Given the description of an element on the screen output the (x, y) to click on. 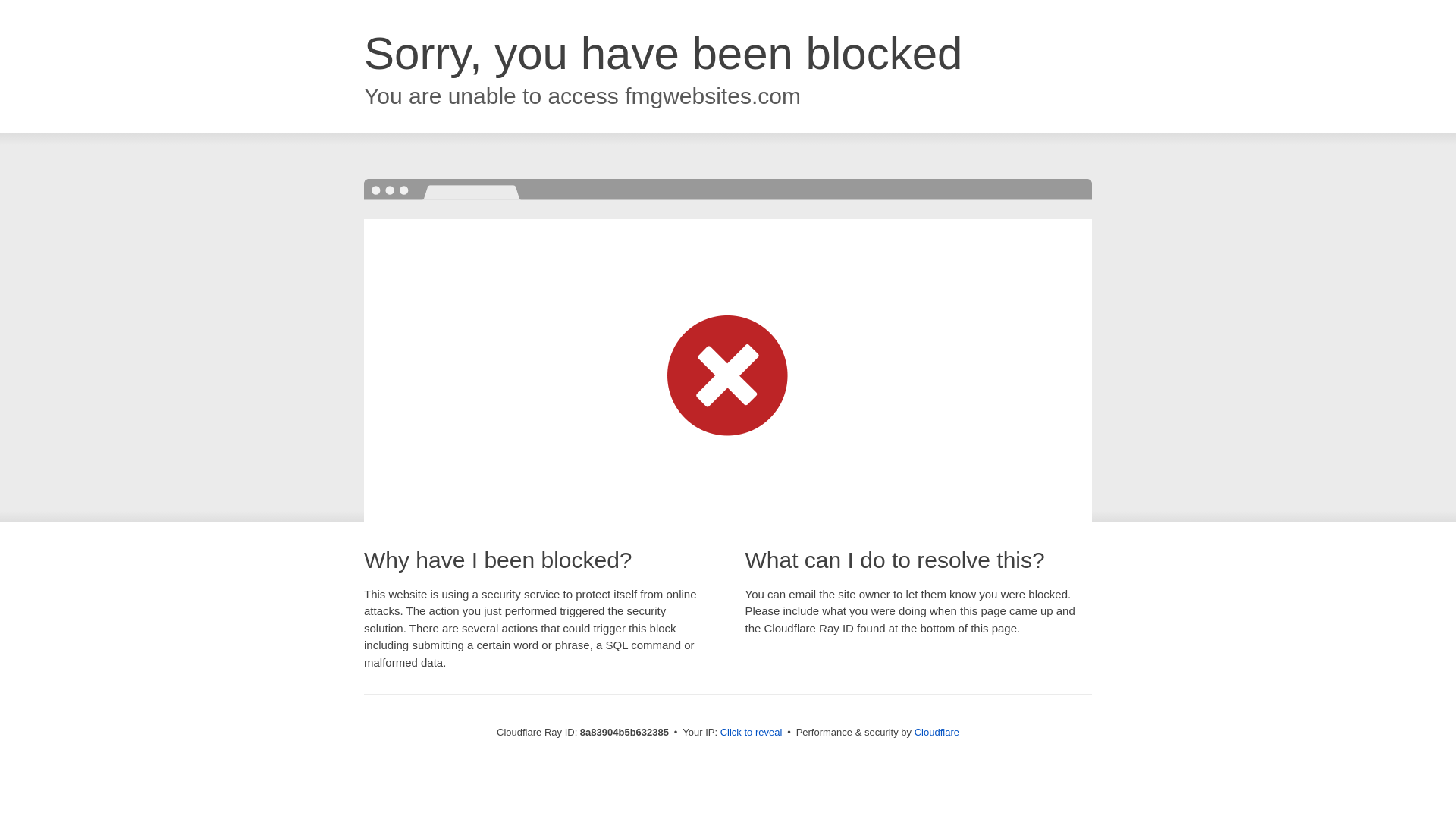
Click to reveal (751, 732)
Cloudflare (936, 731)
